Given the description of an element on the screen output the (x, y) to click on. 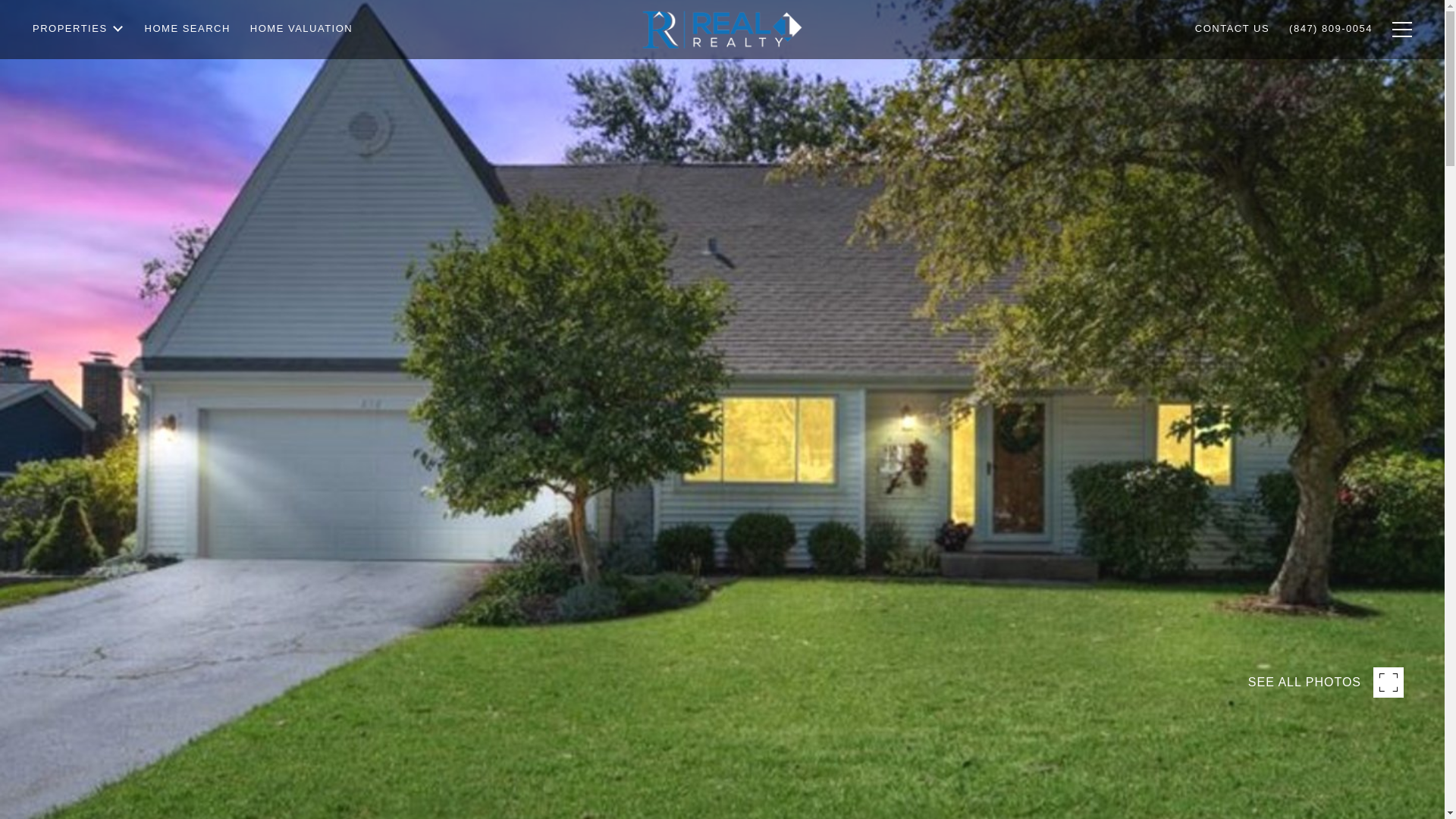
HOME VALUATION (301, 64)
PROPERTIES (79, 69)
CONTACT US (1232, 60)
HOME SEARCH (187, 66)
